Given the description of an element on the screen output the (x, y) to click on. 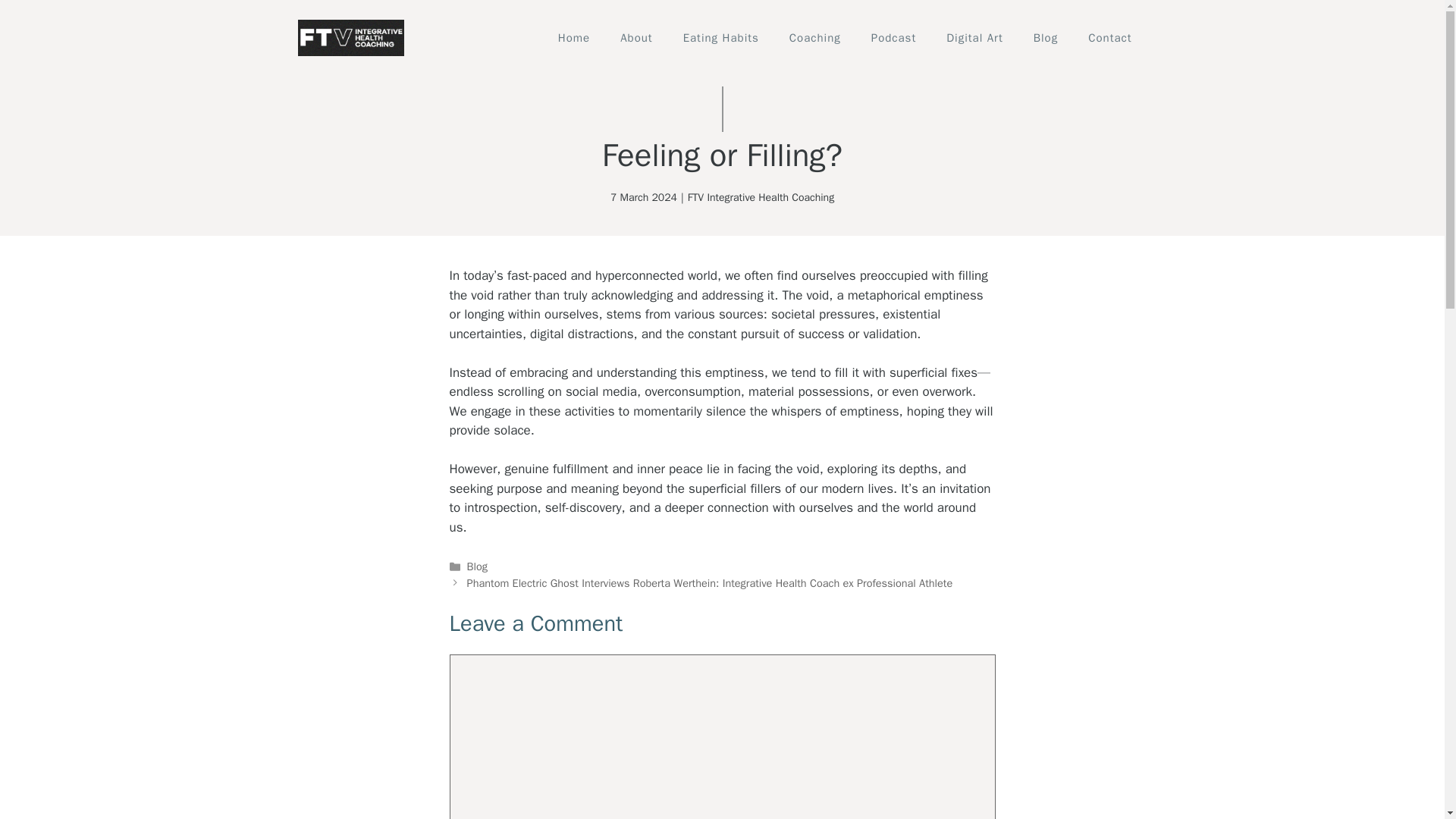
Home (574, 37)
Eating Habits (721, 37)
Digital Art (974, 37)
Blog (1045, 37)
Coaching (815, 37)
Contact (1110, 37)
Blog (477, 566)
FTV Integrative Health Coaching (760, 196)
Podcast (893, 37)
